Given the description of an element on the screen output the (x, y) to click on. 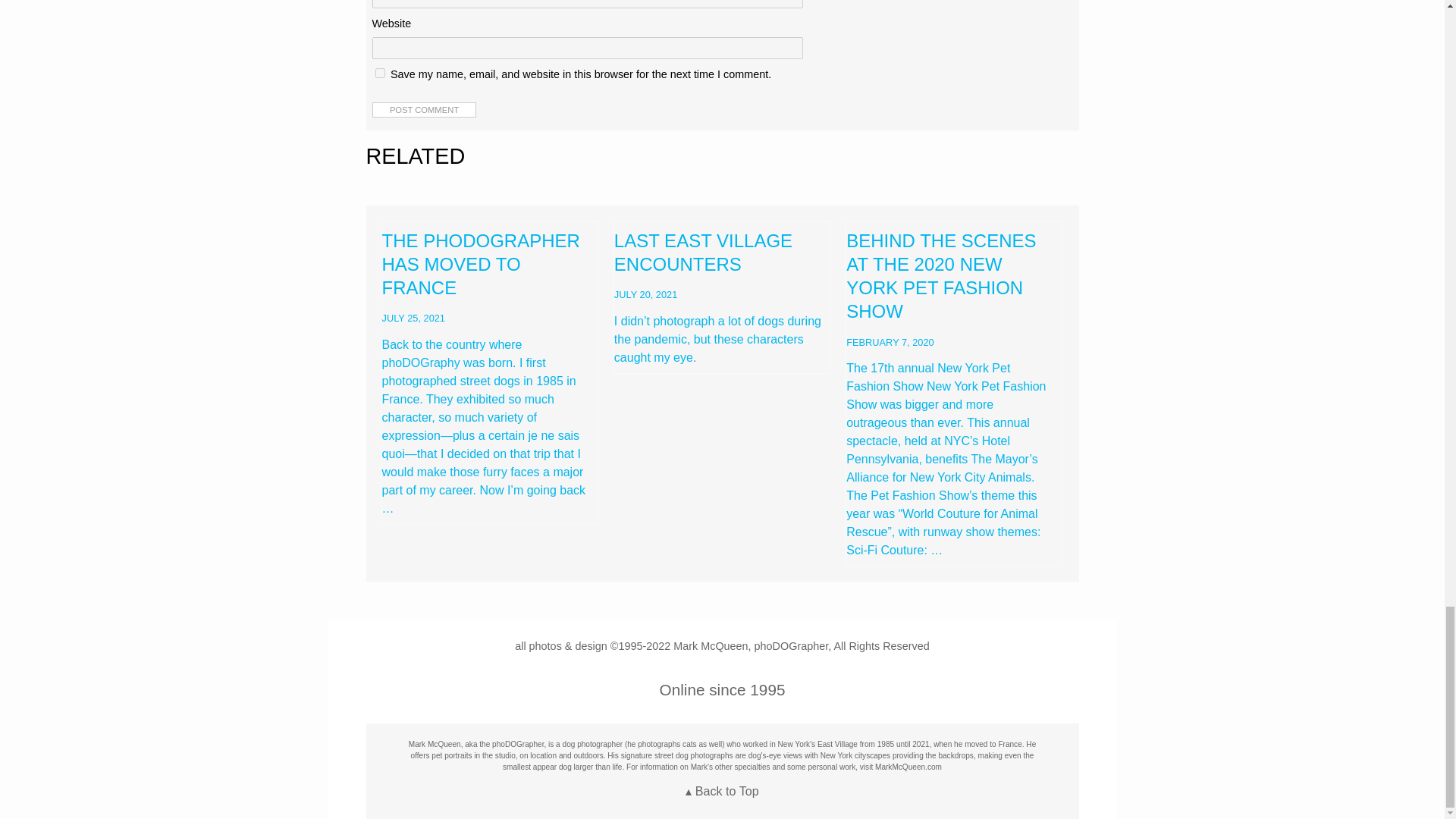
yes (379, 72)
Freelance photographer in New York City (908, 766)
Last East Village Encounters (721, 296)
Post Comment (423, 109)
